Given the description of an element on the screen output the (x, y) to click on. 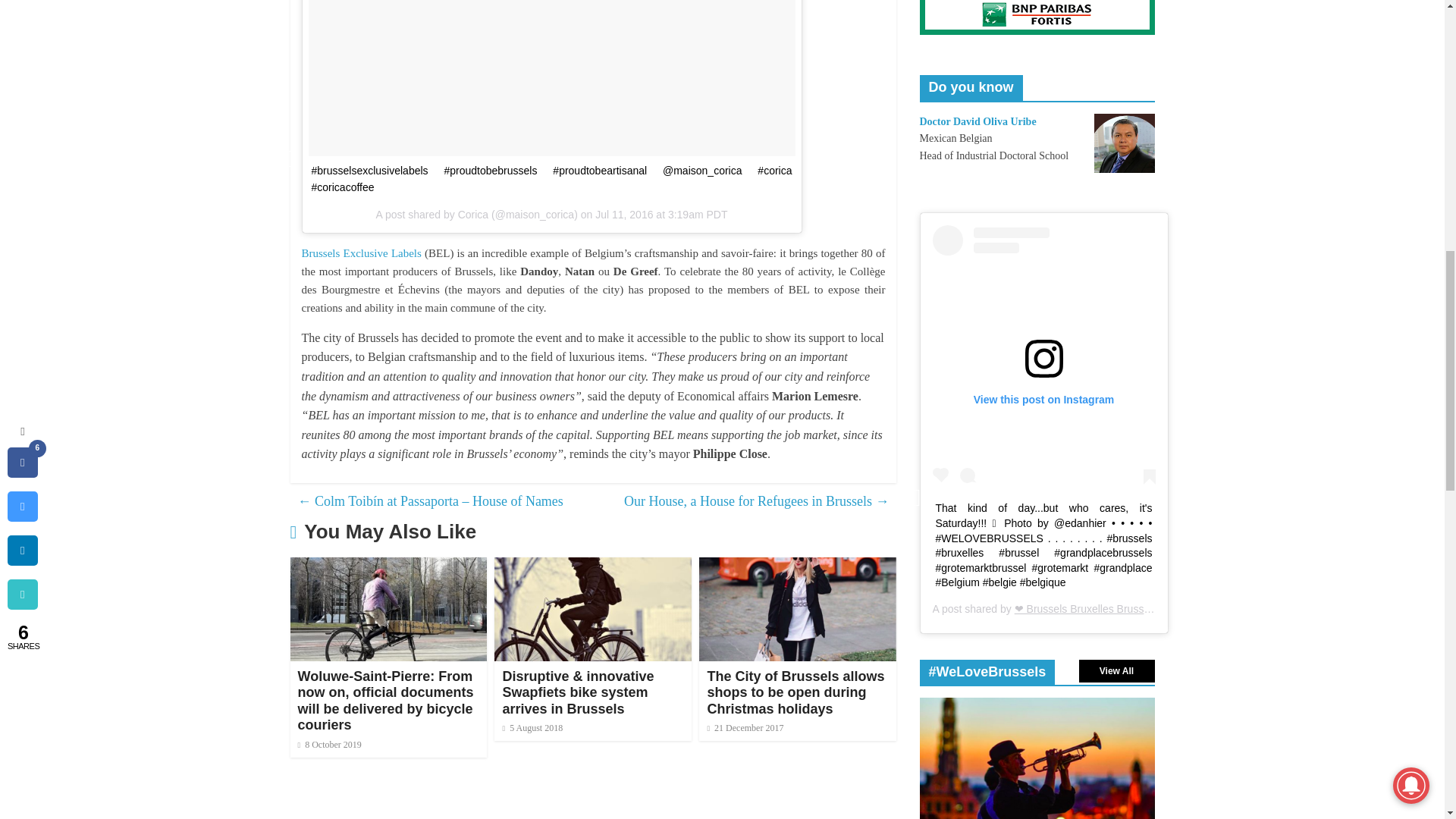
8 October 2019 (329, 744)
5 August 2018 (532, 727)
8 h 36 min (532, 727)
Brussels Exclusive Labels (361, 253)
21 December 2017 (744, 727)
